Given the description of an element on the screen output the (x, y) to click on. 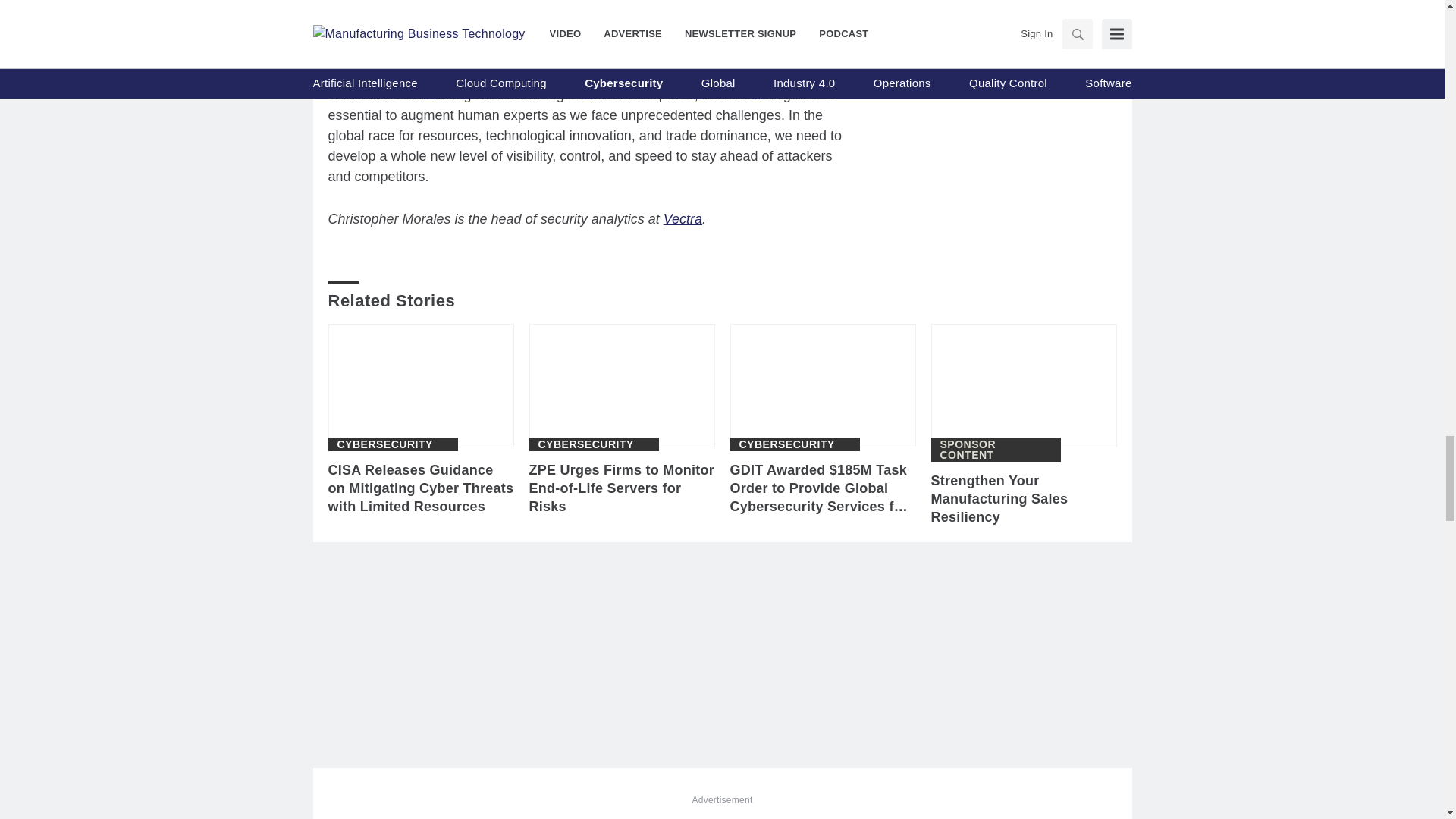
Cybersecurity (384, 443)
Sponsor Content (996, 449)
Cybersecurity (786, 443)
Cybersecurity (585, 443)
